Given the description of an element on the screen output the (x, y) to click on. 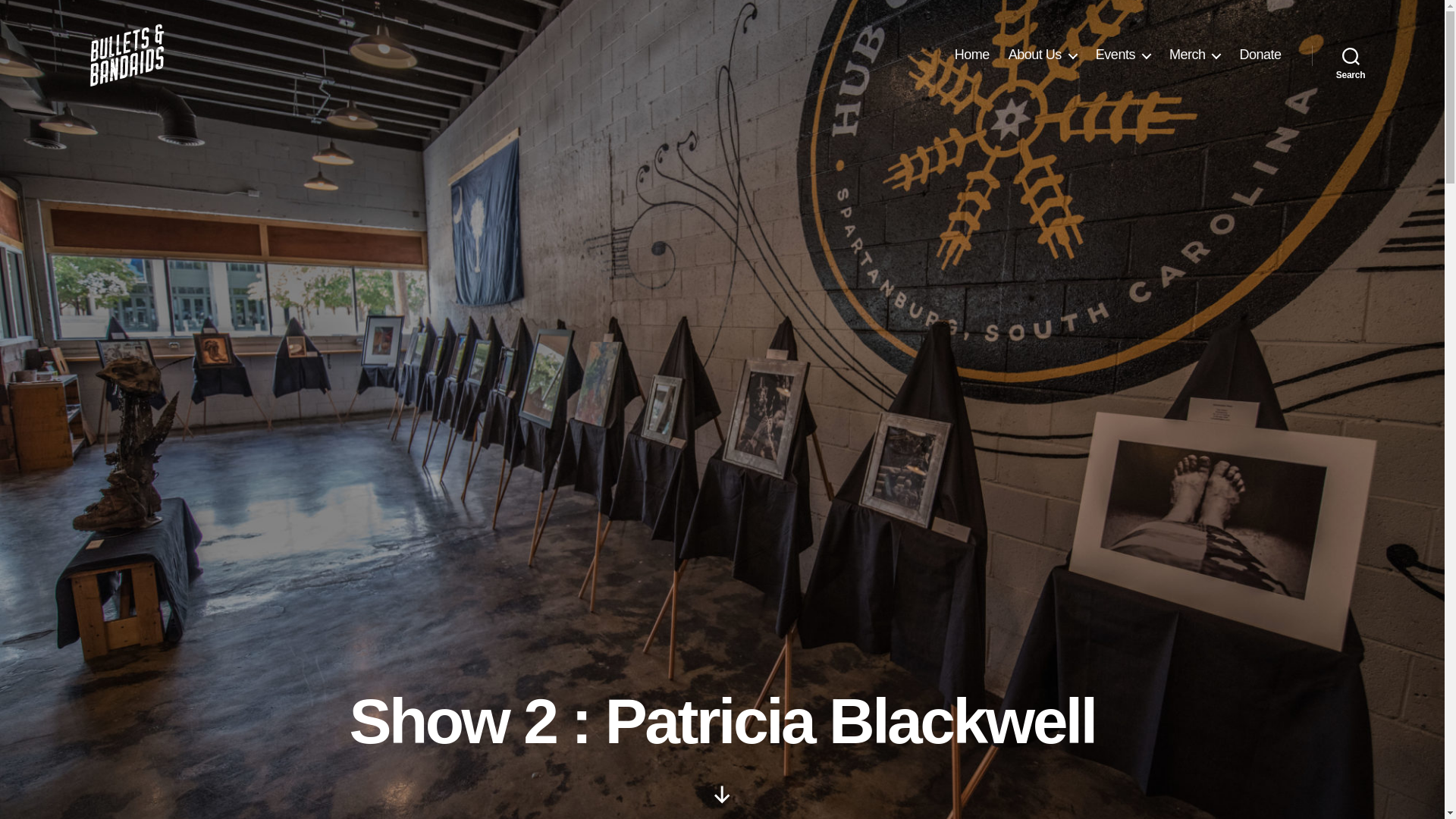
Home (972, 54)
Merch (1195, 54)
Donate (1260, 54)
Search (1350, 55)
About Us (1043, 54)
Events (1123, 54)
